Given the description of an element on the screen output the (x, y) to click on. 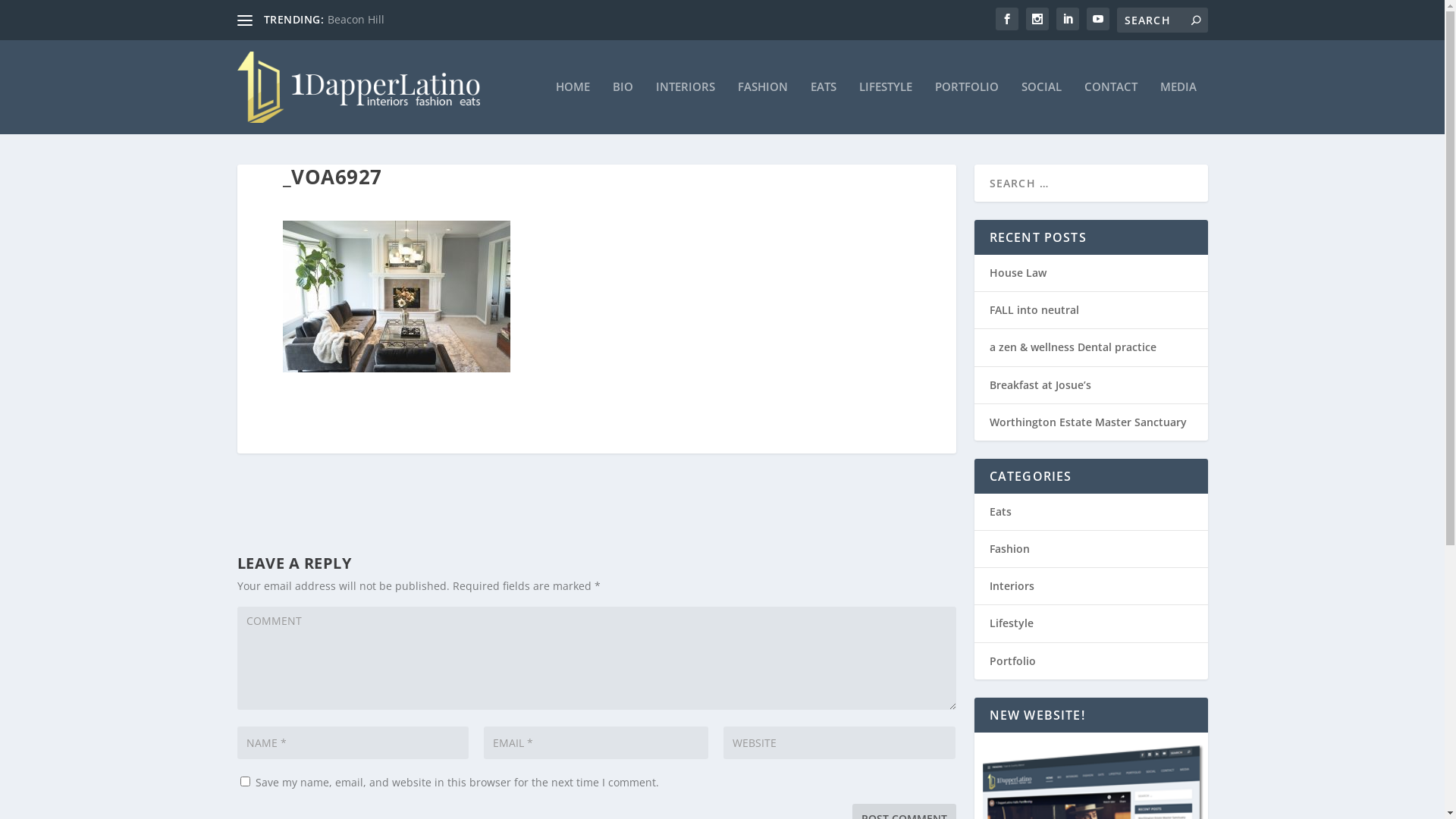
BIO Element type: text (622, 107)
Search Element type: text (29, 14)
House Law Element type: text (1016, 272)
FALL into neutral Element type: text (1033, 309)
Lifestyle Element type: text (1010, 622)
INTERIORS Element type: text (684, 107)
Fashion Element type: text (1008, 548)
FASHION Element type: text (762, 107)
Worthington Estate Master Sanctuary Element type: text (1087, 421)
MEDIA Element type: text (1178, 107)
Search for: Element type: hover (1161, 19)
a zen & wellness Dental practice Element type: text (1071, 346)
PORTFOLIO Element type: text (965, 107)
Beacon Hill Element type: text (355, 19)
CONTACT Element type: text (1110, 107)
SOCIAL Element type: text (1040, 107)
Portfolio Element type: text (1011, 660)
LIFESTYLE Element type: text (884, 107)
Interiors Element type: text (1010, 585)
EATS Element type: text (822, 107)
HOME Element type: text (572, 107)
Eats Element type: text (999, 511)
